Given the description of an element on the screen output the (x, y) to click on. 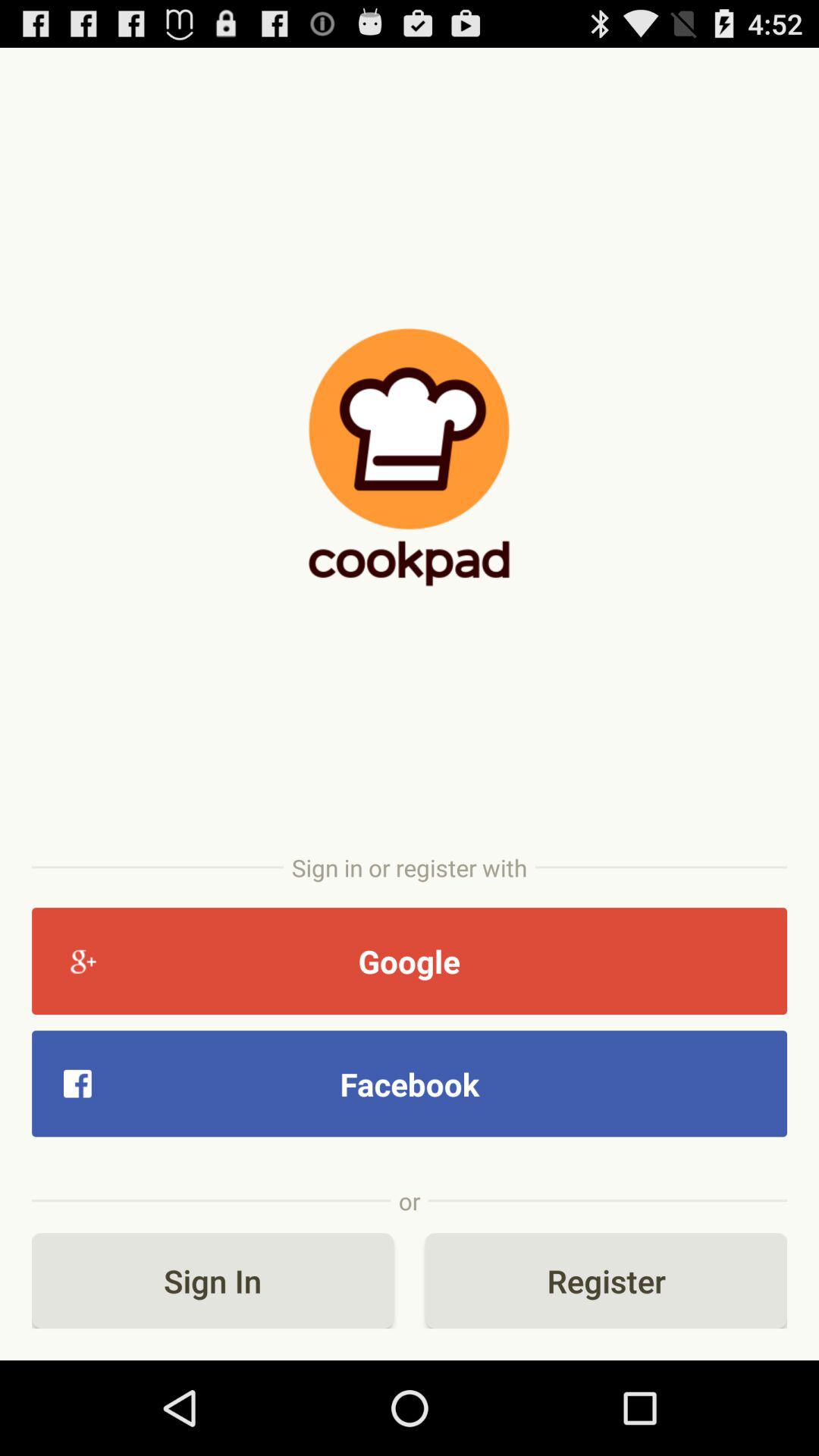
tap item below google item (409, 1083)
